Given the description of an element on the screen output the (x, y) to click on. 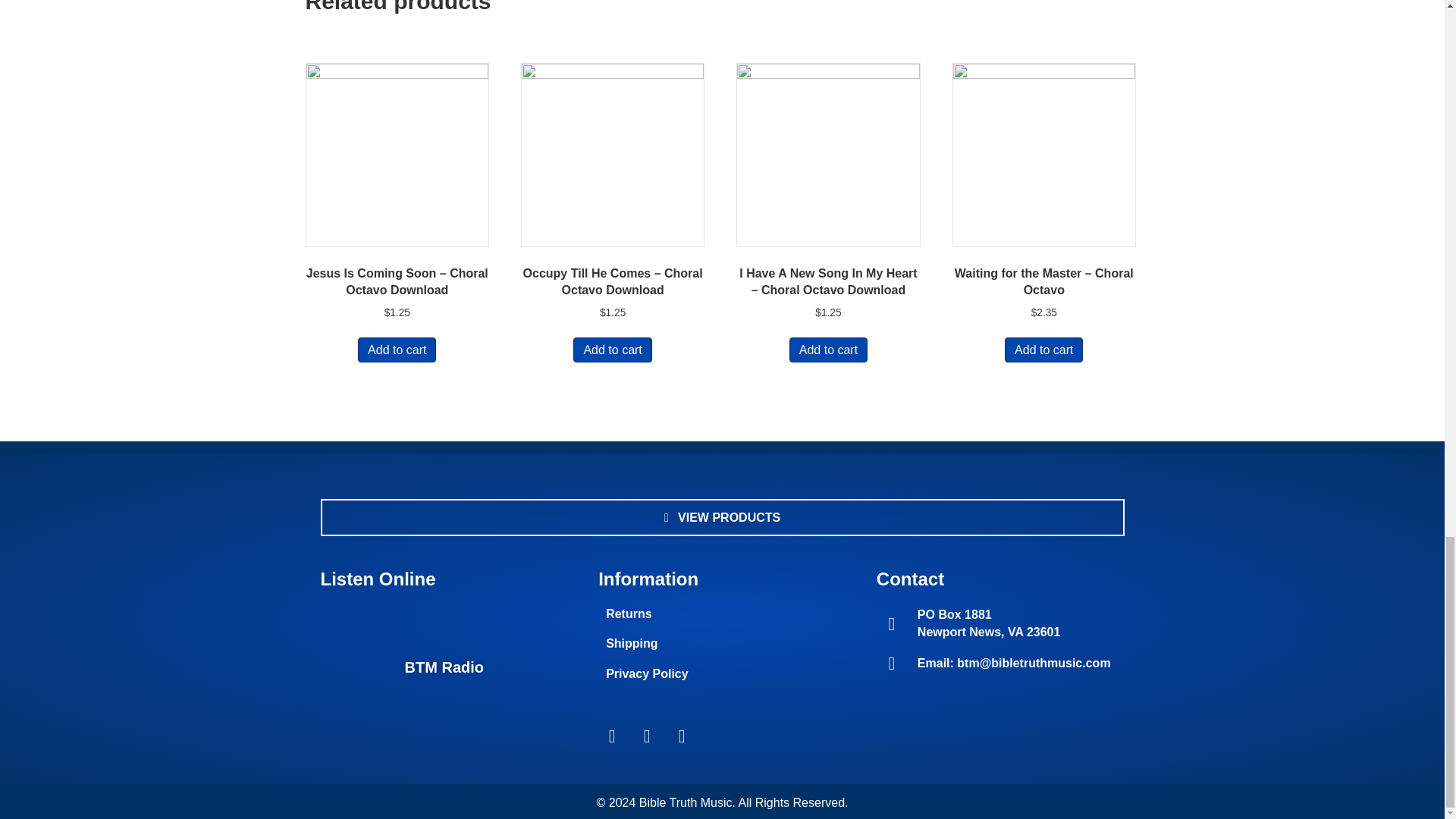
Returns (721, 613)
Add to cart (396, 349)
Add to cart (611, 349)
Privacy Policy (721, 673)
Add to cart (1043, 349)
Shipping (721, 643)
Add to cart (828, 349)
VIEW PRODUCTS (722, 516)
